Given the description of an element on the screen output the (x, y) to click on. 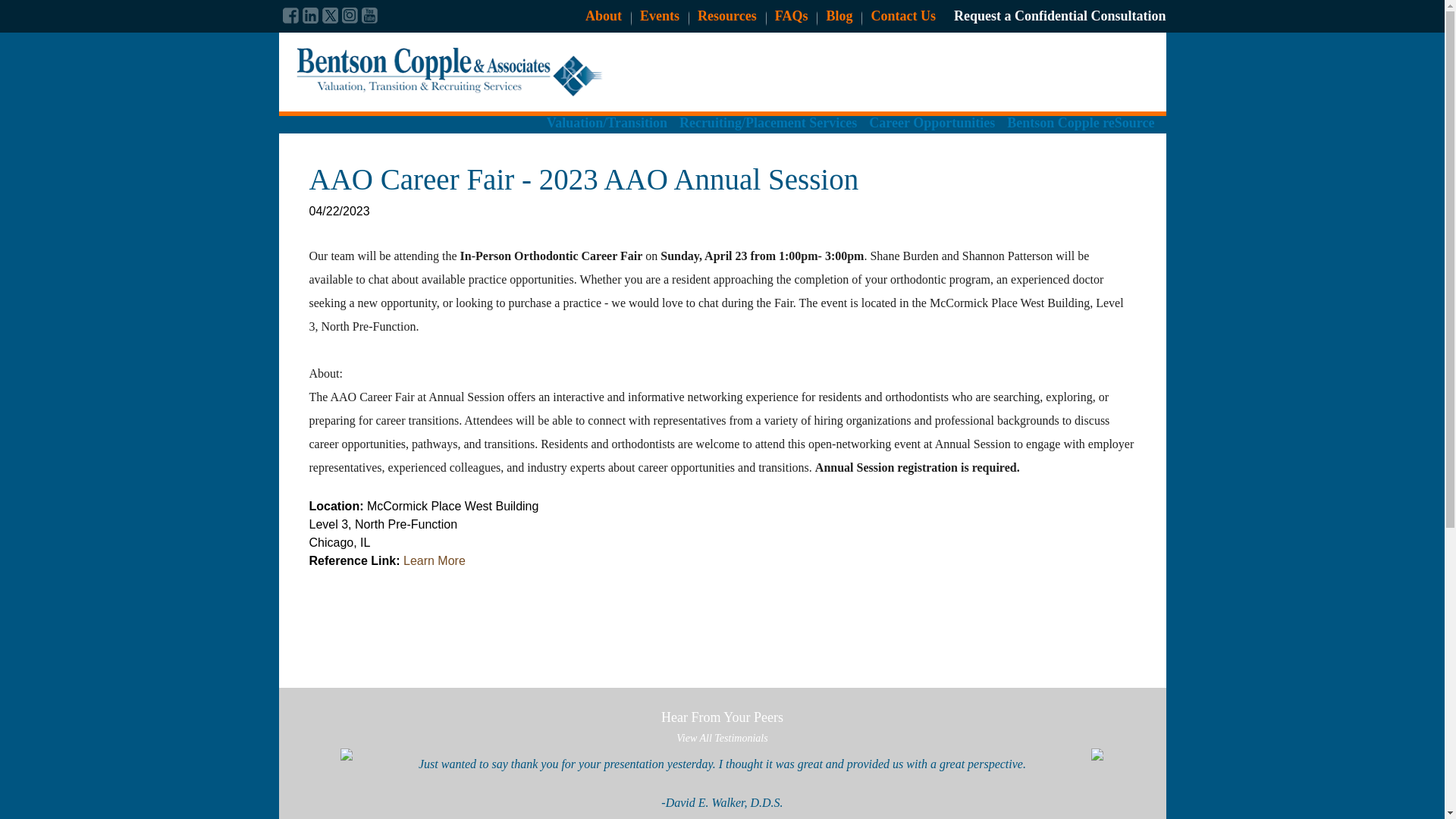
Learn More (434, 560)
Blog (838, 15)
Resources (727, 15)
View All Testimonials (722, 737)
About (603, 15)
Bentson Copple reSource (1080, 129)
Request a Confidential Consultation (1059, 15)
Contact Us (903, 15)
Events (659, 15)
Career Opportunities (931, 129)
FAQs (791, 15)
